Given the description of an element on the screen output the (x, y) to click on. 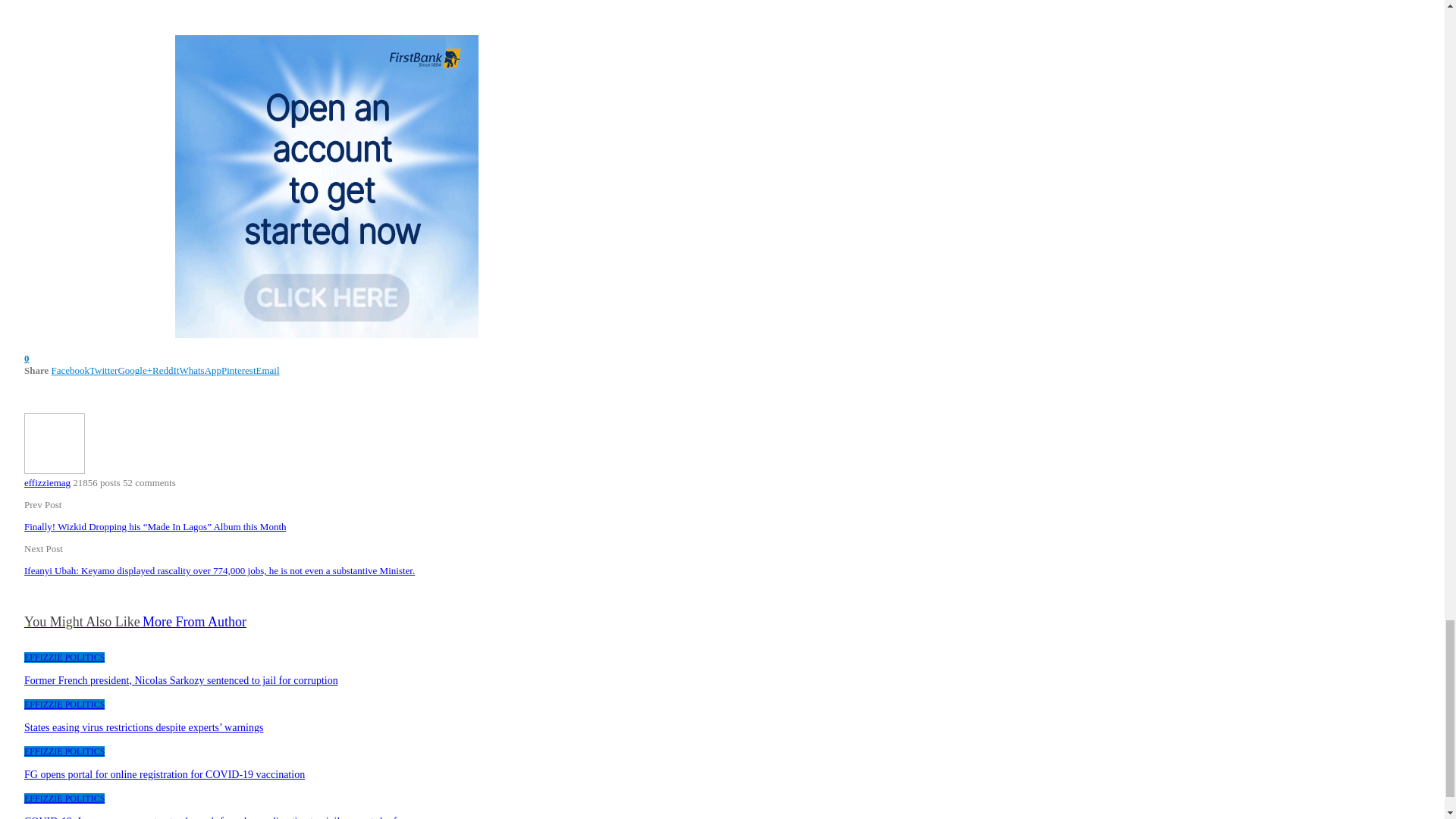
Browse Author Articles (54, 470)
